Given the description of an element on the screen output the (x, y) to click on. 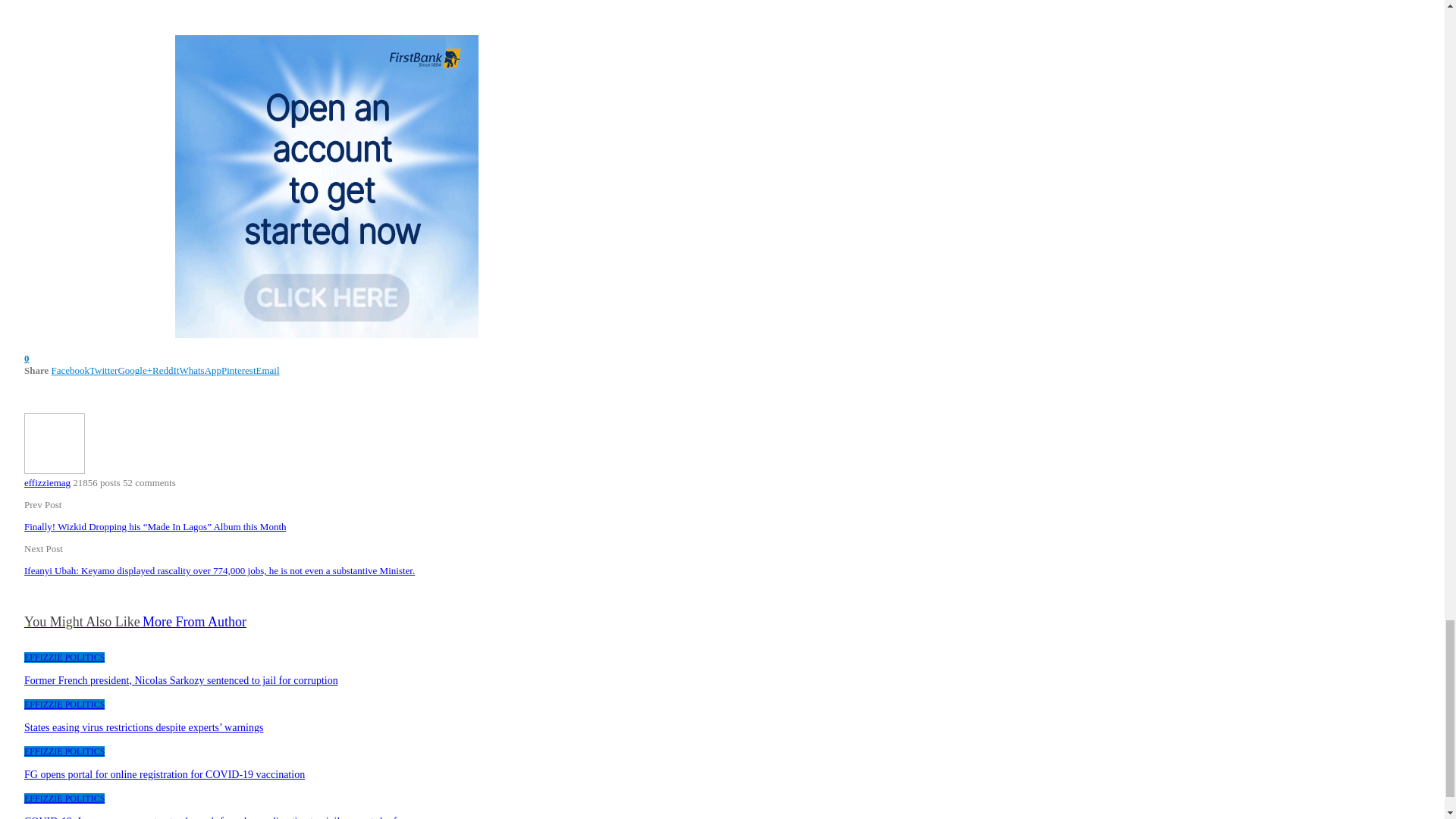
Browse Author Articles (54, 470)
